Given the description of an element on the screen output the (x, y) to click on. 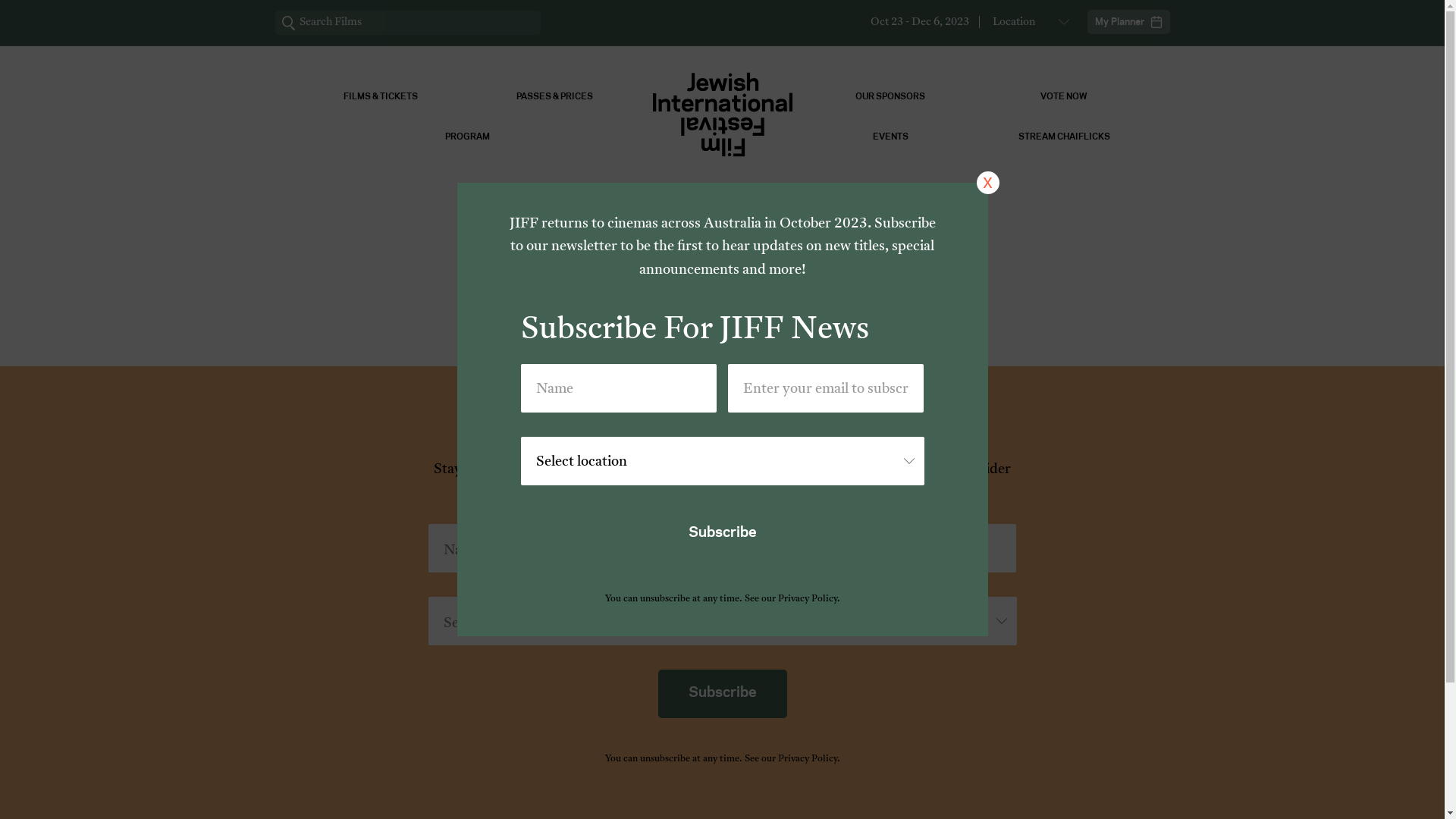
STREAM CHAIFLICKS Element type: text (1063, 136)
FILMS & TICKETS Element type: text (380, 96)
PASSES & PRICES Element type: text (553, 96)
Privacy Policy Element type: text (807, 758)
My Planner Element type: text (1128, 21)
Subscribe Element type: text (722, 533)
VOTE NOW Element type: text (1063, 96)
Subscribe Element type: text (722, 693)
Privacy Policy Element type: text (807, 598)
PROGRAM Element type: text (467, 136)
OUR SPONSORS Element type: text (890, 96)
EVENTS Element type: text (890, 136)
